Given the description of an element on the screen output the (x, y) to click on. 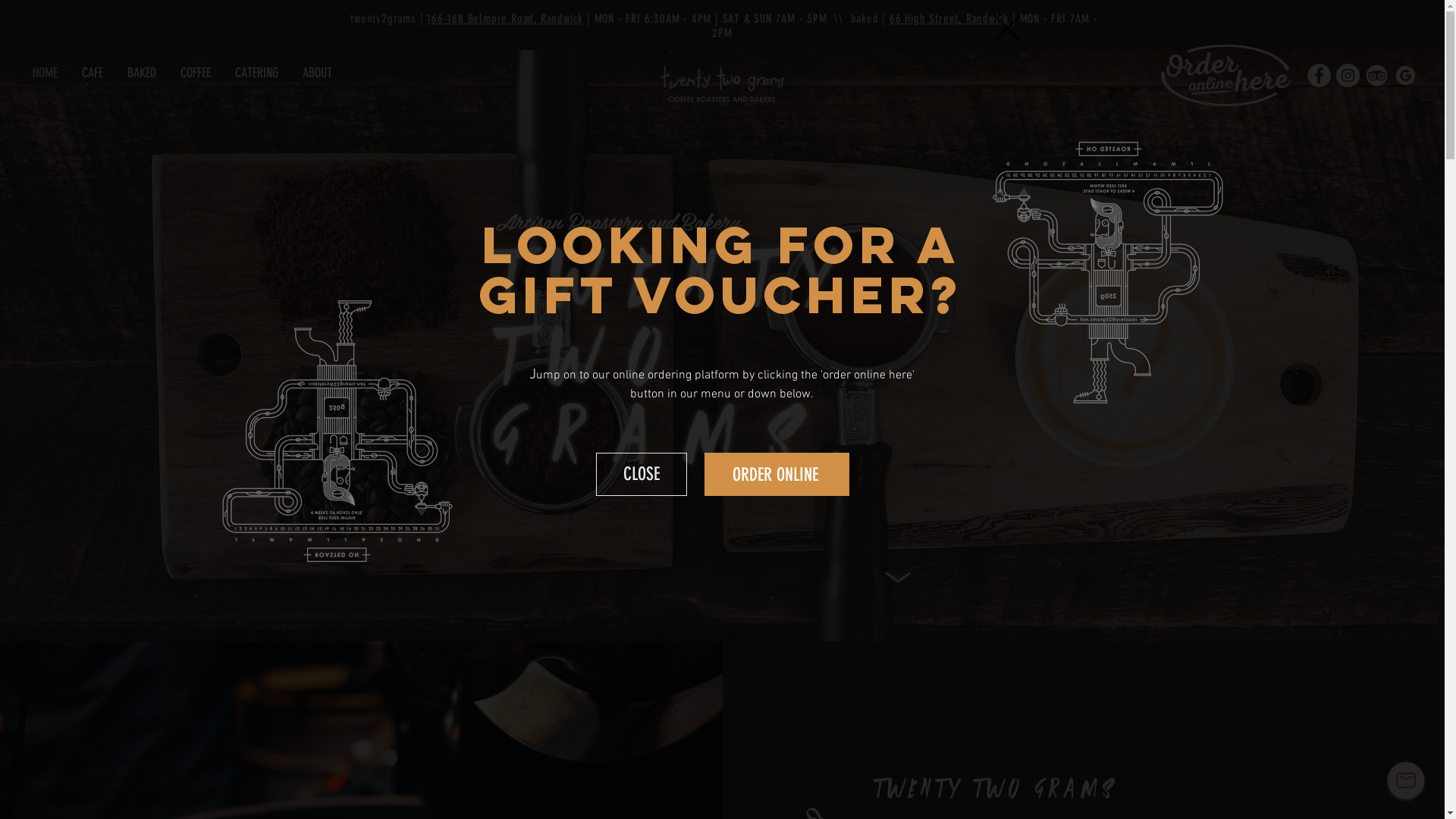
ABOUT Element type: text (316, 72)
COFFEE Element type: text (195, 72)
BAKED Element type: text (141, 72)
66 High Street, Randwick Element type: text (948, 18)
CATERING Element type: text (256, 72)
166-168 Belmore Road, Randwick Element type: text (504, 18)
Contact Us Element type: hover (1405, 779)
Back to site Element type: hover (1006, 28)
HOME Element type: text (44, 72)
CAFE Element type: text (92, 72)
ORDER ONLINE Element type: text (775, 473)
